Given the description of an element on the screen output the (x, y) to click on. 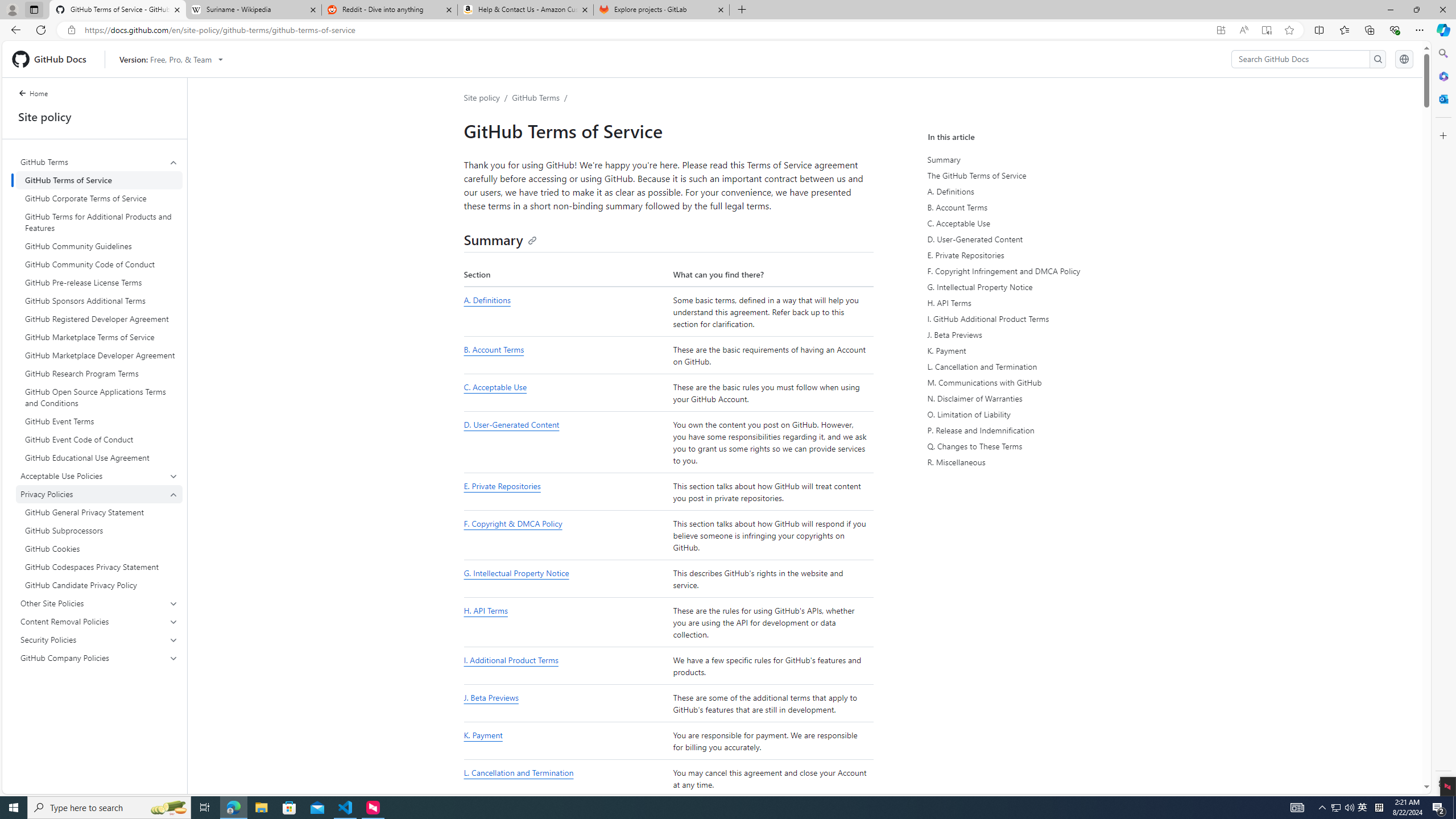
H. API Terms (485, 610)
App available. Install GitHub Docs (1220, 29)
F. Copyright & DMCA Policy (565, 536)
What can you find there? (770, 274)
GitHub Company Policies (99, 657)
F. Copyright Infringement and DMCA Policy (1034, 271)
Site policy/ (487, 97)
GitHub Community Code of Conduct (99, 264)
L. Cancellation and Termination (1032, 366)
GitHub Company Policies (99, 657)
D. User-Generated Content (1032, 239)
